Given the description of an element on the screen output the (x, y) to click on. 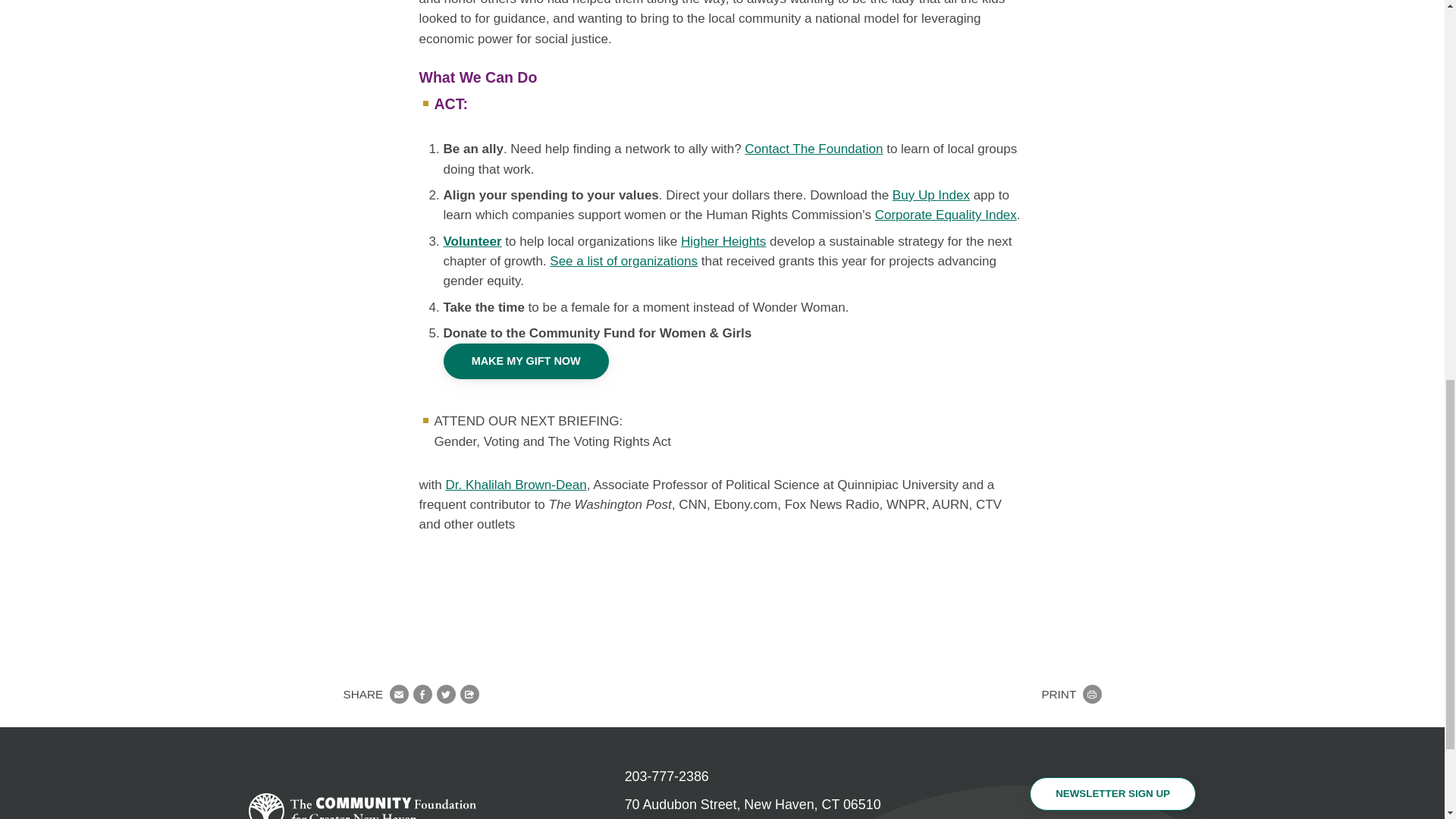
Corporate Equality Index (945, 214)
See list (623, 260)
Buy Up Index (930, 195)
Higher Heights (723, 241)
